Given the description of an element on the screen output the (x, y) to click on. 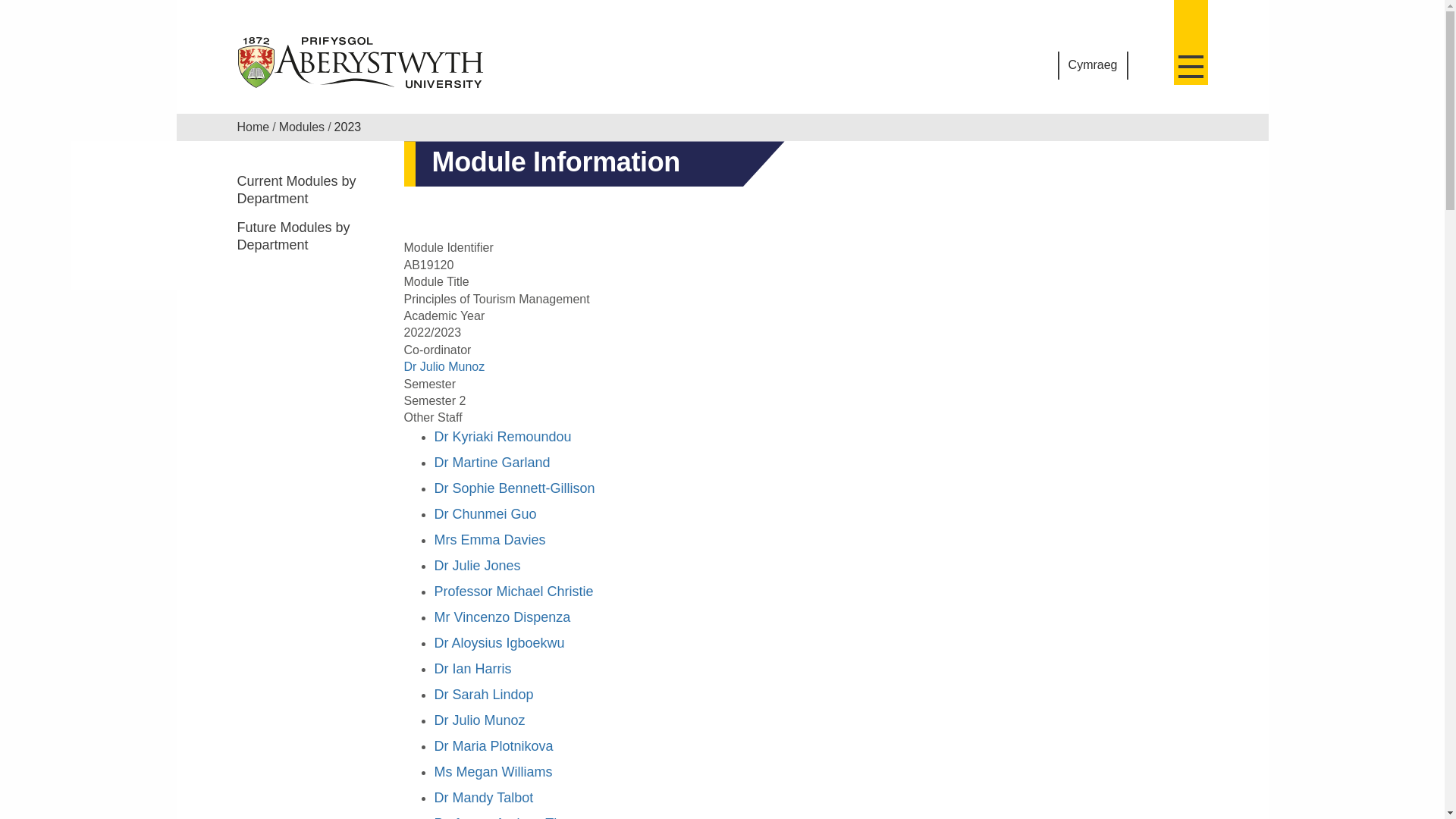
Aberystwyth University homepage (360, 62)
Toggle menu (1190, 42)
Search (1147, 66)
Menu (1190, 42)
Newid iaith i Gymraeg (1093, 65)
